Given the description of an element on the screen output the (x, y) to click on. 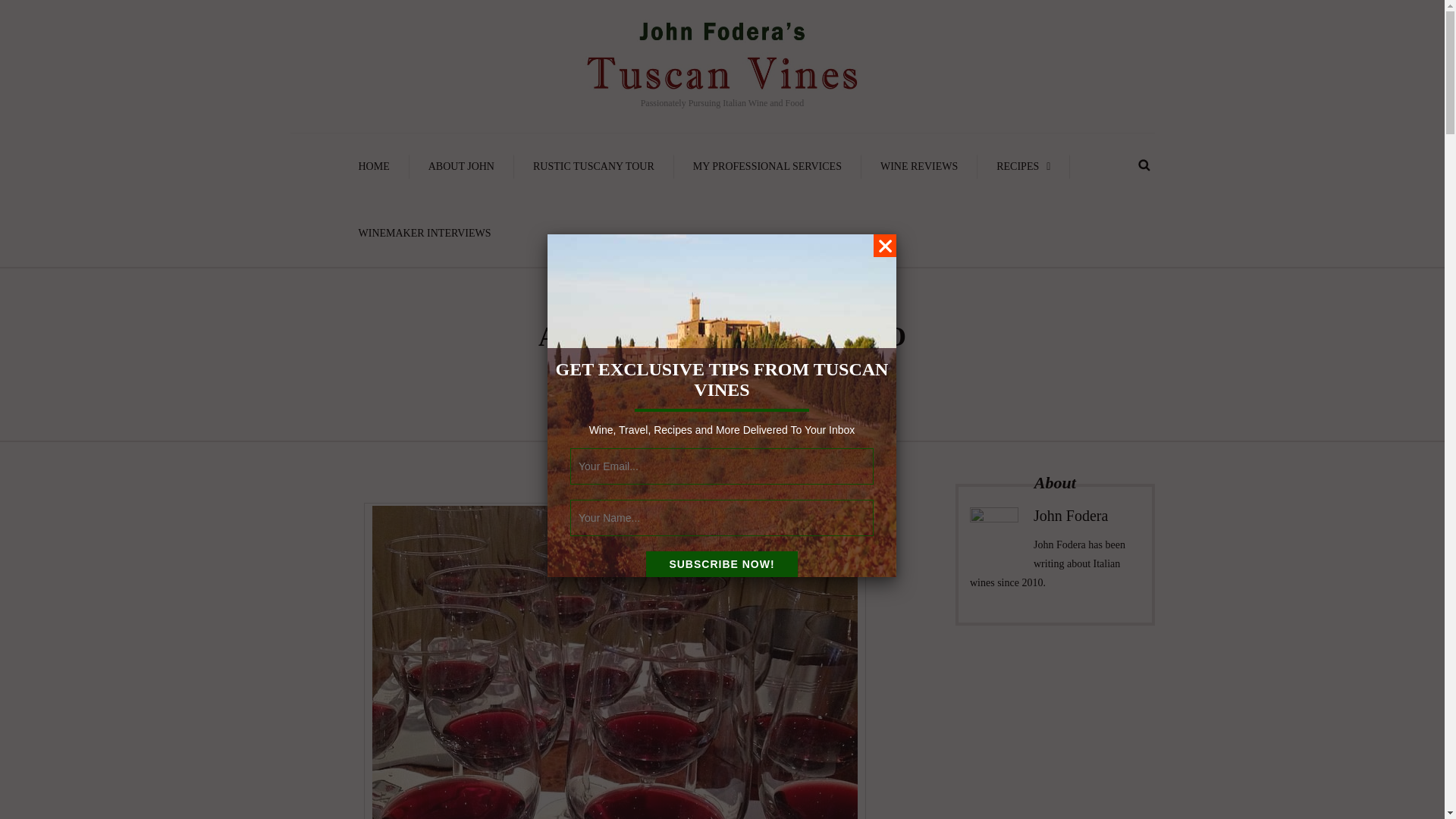
ABOUT JOHN (461, 166)
RECIPES (1023, 166)
Share with Google Plus (733, 395)
Subscribe Now! (721, 564)
WINEMAKER INTERVIEWS (425, 233)
MY PROFESSIONAL SERVICES (767, 166)
Tweet this (710, 395)
Share this (687, 395)
WINE REVIEWS (918, 166)
Posts by John Fodera (668, 369)
Pin this (755, 395)
RUSTIC TUSCANY TOUR (593, 166)
HOME (374, 166)
WINE REVIEWS (774, 369)
John Fodera (668, 369)
